Given the description of an element on the screen output the (x, y) to click on. 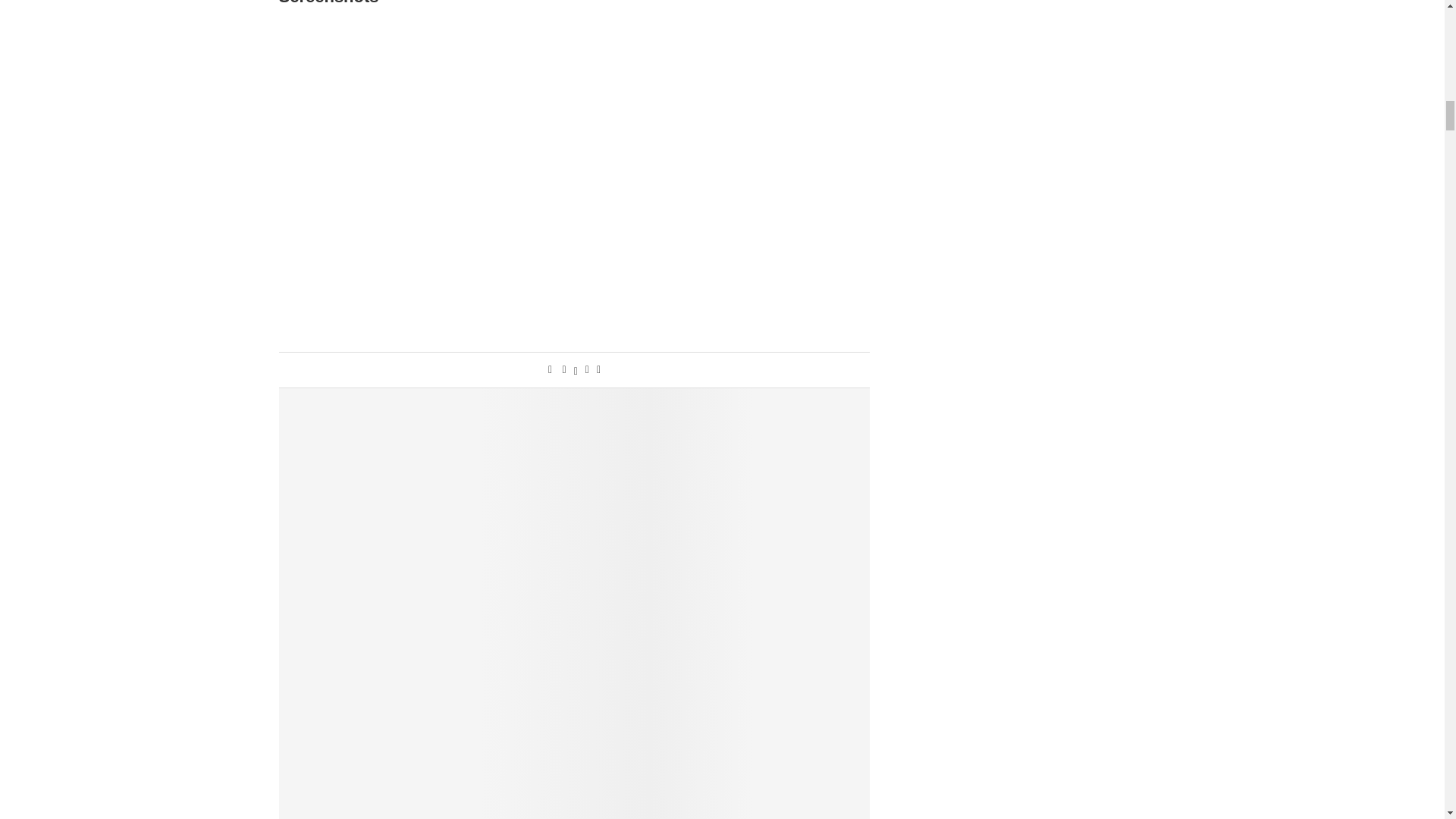
Like (549, 369)
